Given the description of an element on the screen output the (x, y) to click on. 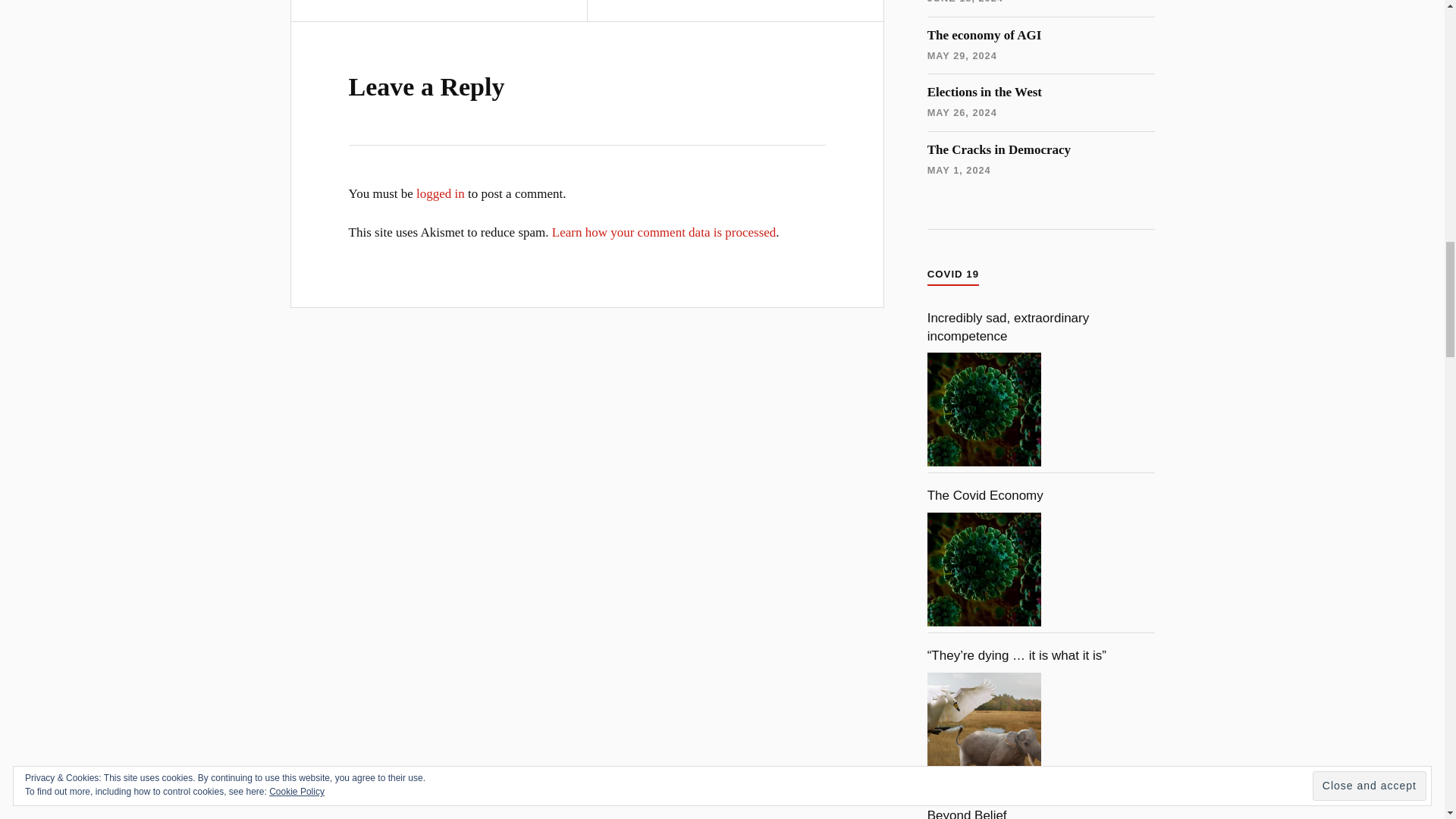
logged in (440, 193)
The Covid Economy (984, 569)
Learn how your comment data is processed (663, 232)
Incredibly sad, extraordinary incompetence (984, 409)
